Given the description of an element on the screen output the (x, y) to click on. 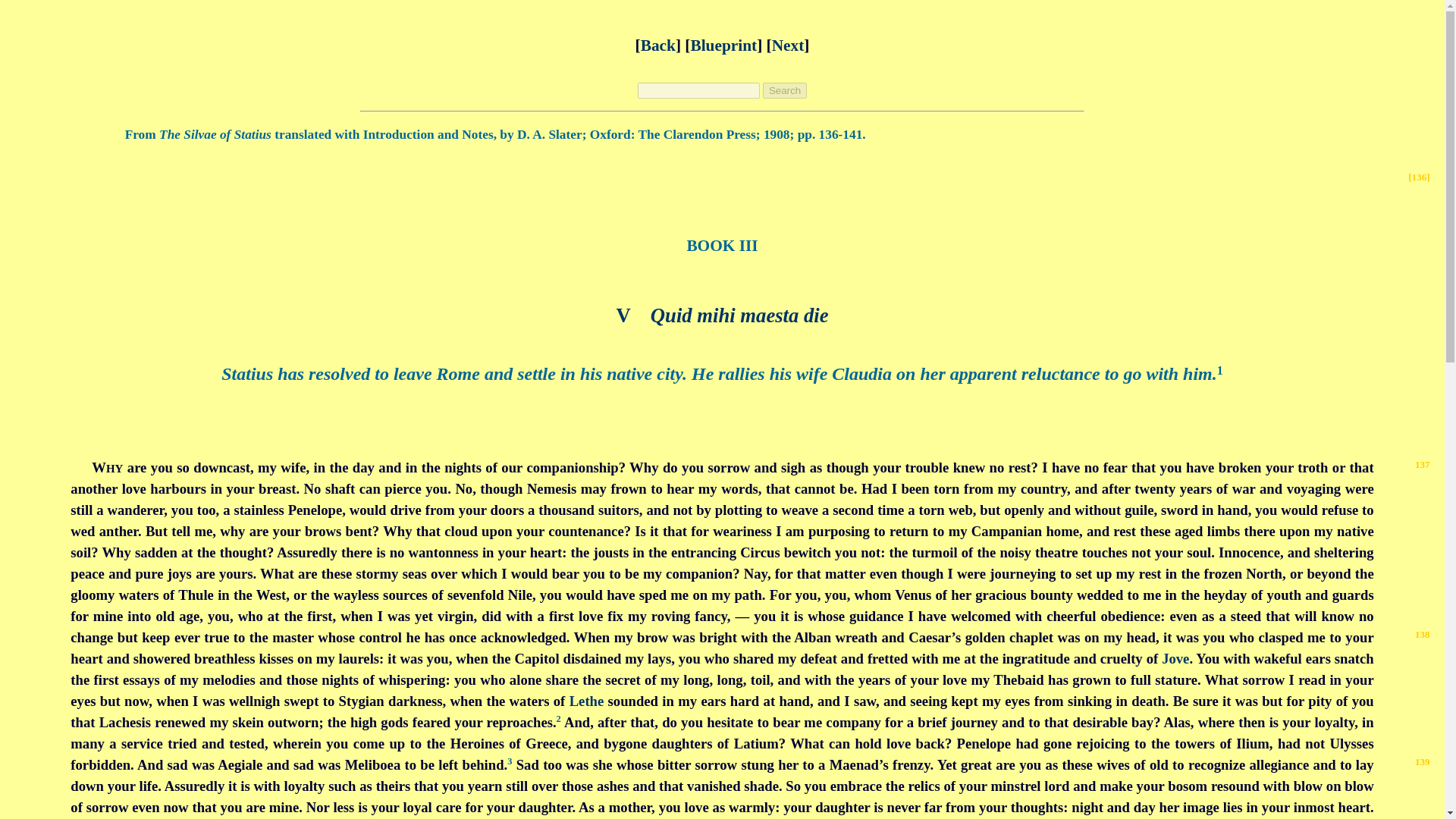
137 (1422, 464)
Jove (1175, 658)
Next (788, 45)
139 (1422, 761)
Back (657, 45)
Blueprint (723, 45)
Search (784, 90)
Lethe (586, 700)
Search (784, 90)
138 (1422, 633)
